Given the description of an element on the screen output the (x, y) to click on. 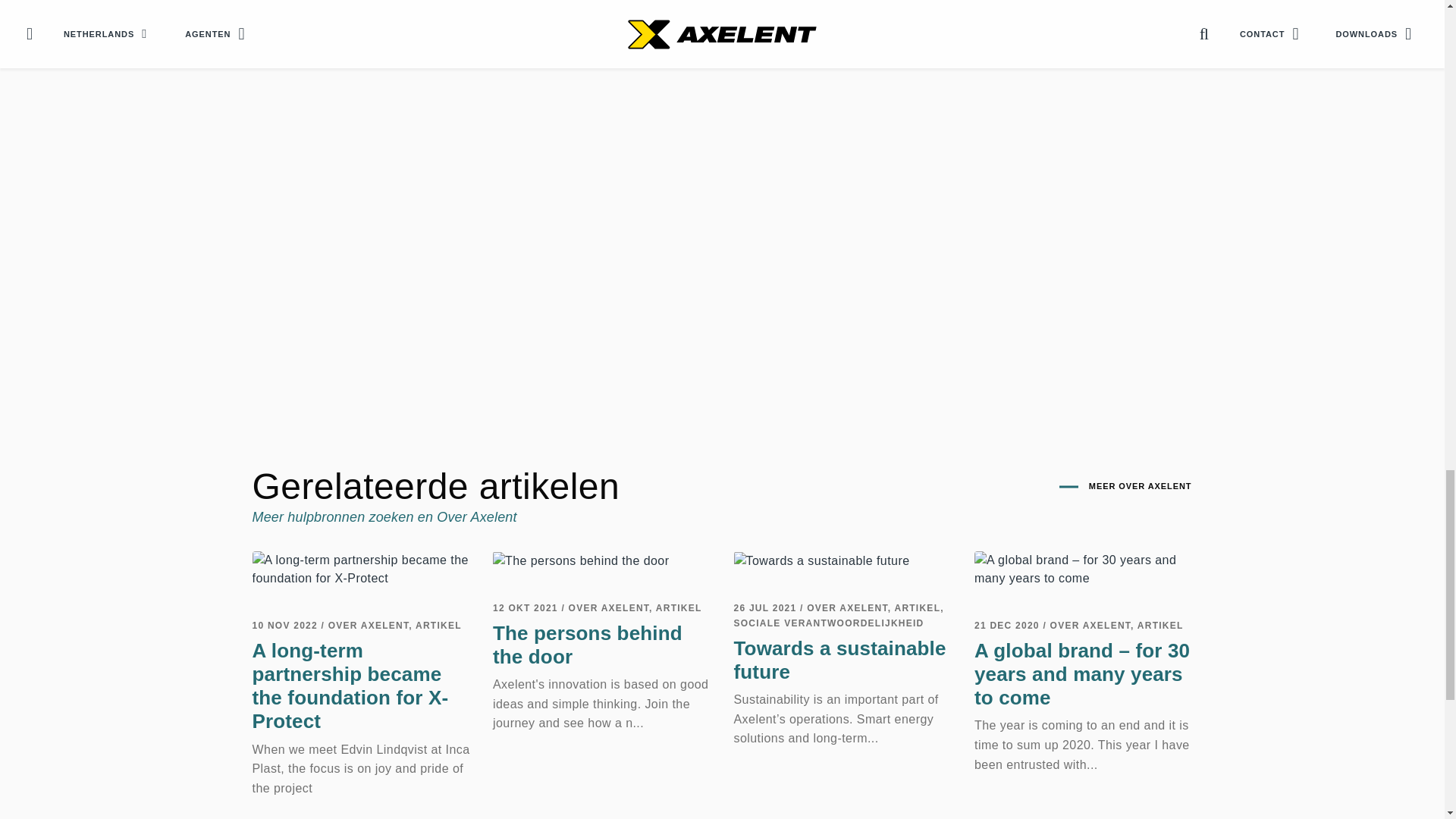
Towards a sustainable future (821, 561)
The persons behind the door (580, 561)
A long-term partnership became the foundation for X-Protect (360, 569)
